Given the description of an element on the screen output the (x, y) to click on. 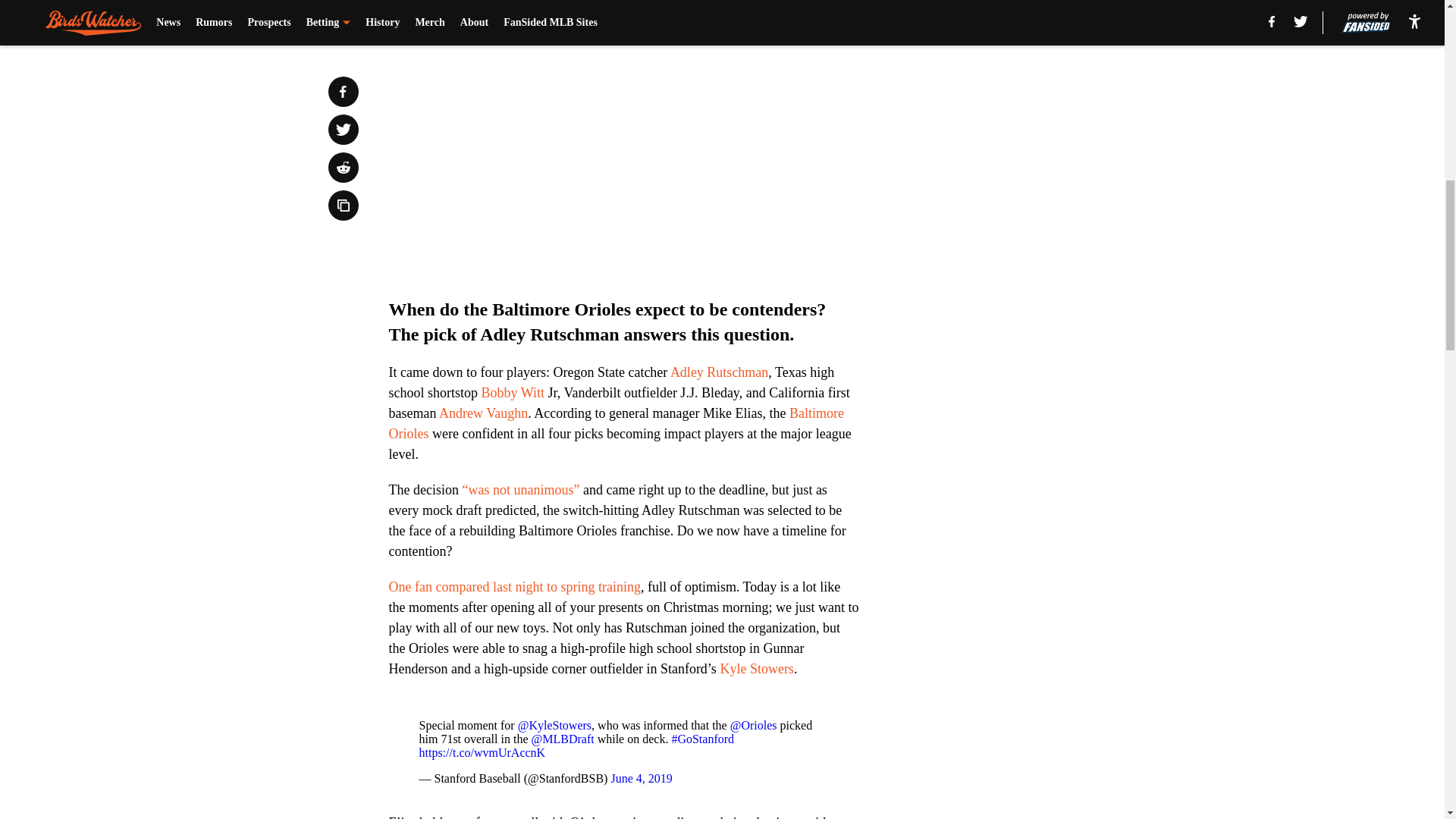
One fan compared last night to spring training (514, 586)
Baltimore Orioles (616, 423)
Adley Rutschman (718, 372)
Kyle Stowers (756, 668)
June 4, 2019 (640, 778)
Bobby Witt (512, 392)
Andrew Vaughn (483, 412)
